Given the description of an element on the screen output the (x, y) to click on. 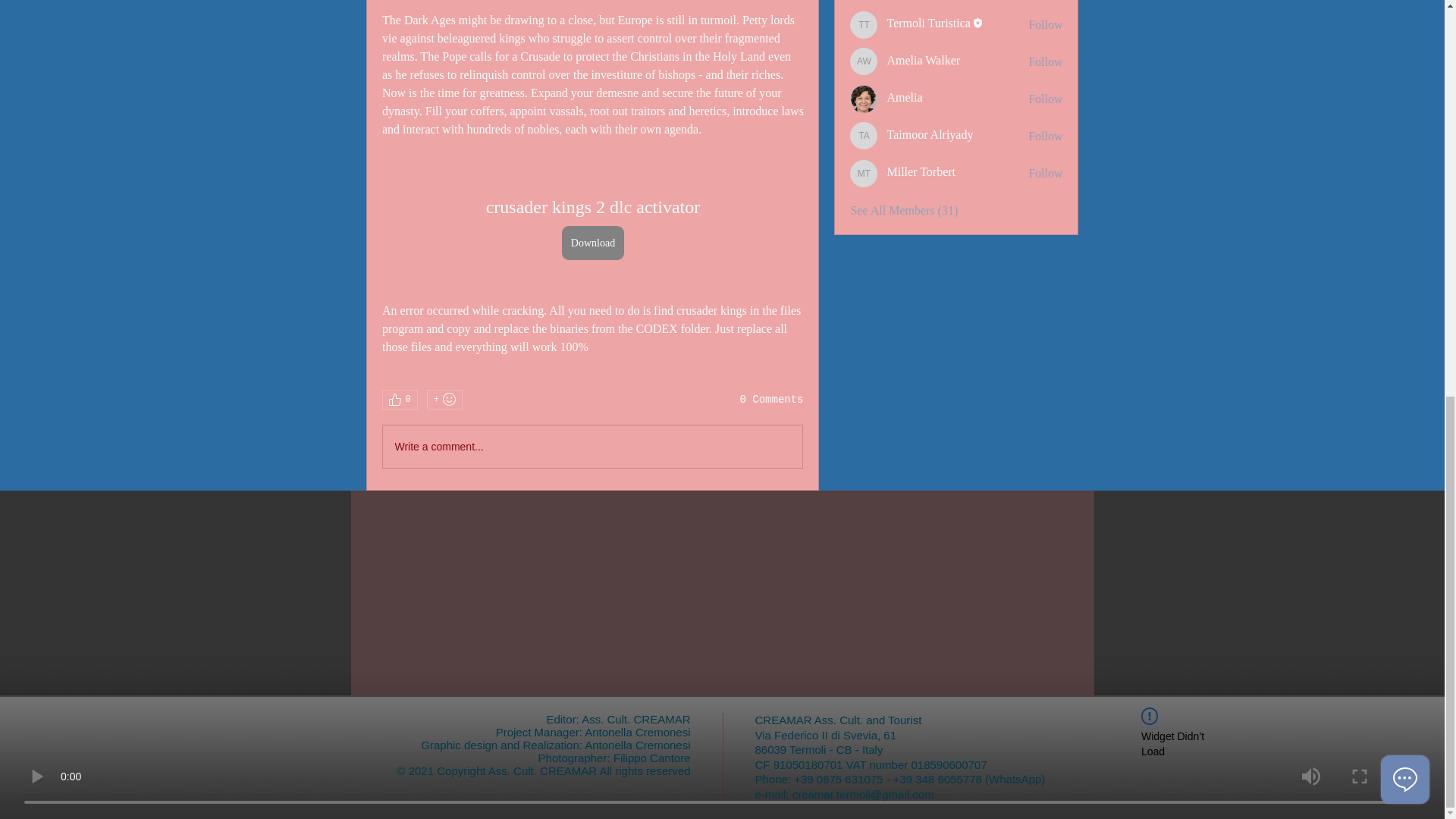
Termoli Turistica (863, 24)
Miller Torbert (863, 173)
Taimoor Alriyady (863, 135)
Amelia (863, 99)
Amelia Walker (863, 61)
